Given the description of an element on the screen output the (x, y) to click on. 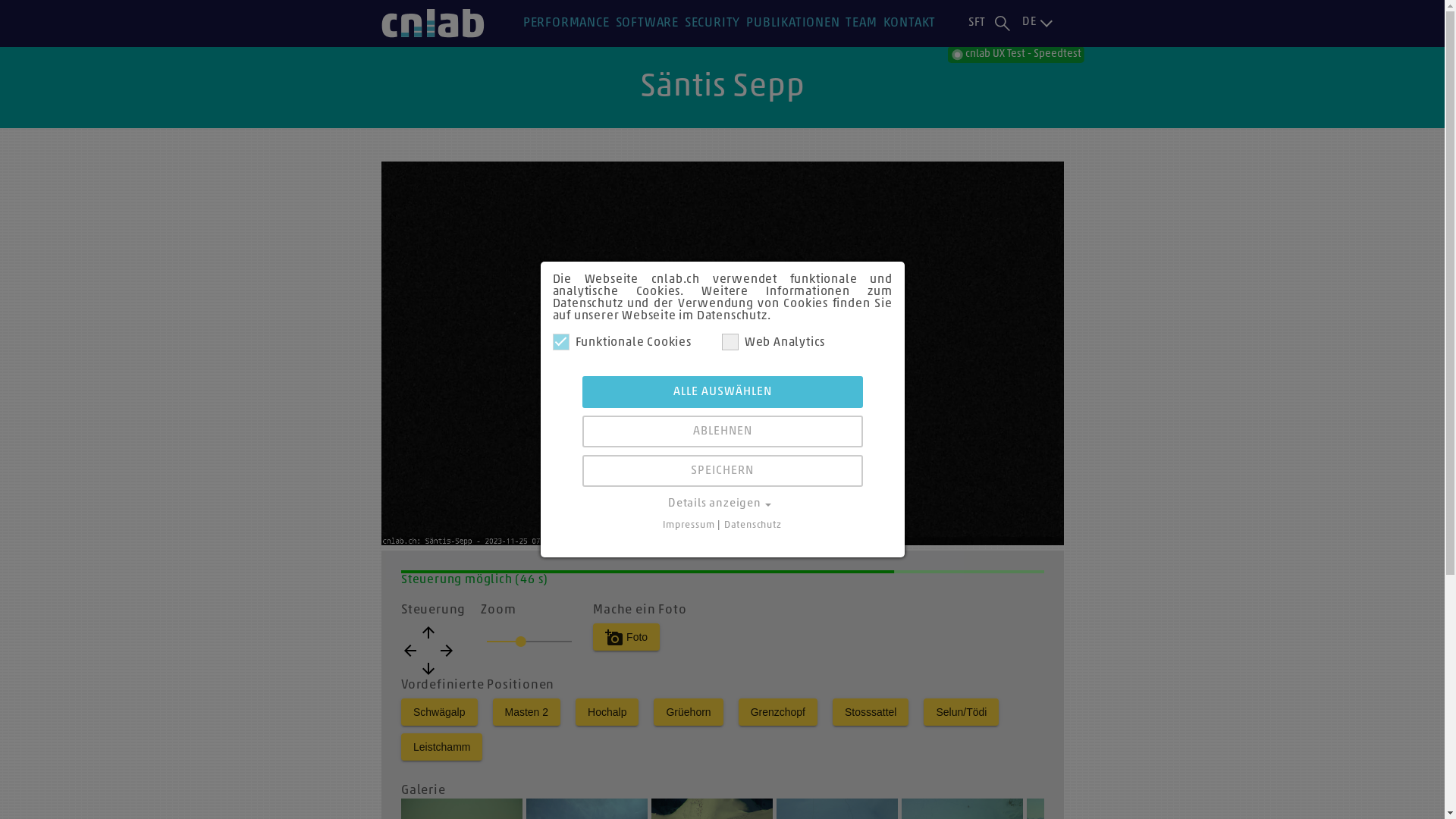
cnlab UX Test - Speedtest Element type: text (1015, 54)
ABLEHNEN Element type: text (722, 431)
KONTAKT Element type: text (908, 23)
SPEICHERN Element type: text (722, 470)
SFT Element type: text (976, 23)
PUBLIKATIONEN Element type: text (792, 23)
Impressum Element type: text (688, 525)
PERFORMANCE Element type: text (566, 23)
SECURITY Element type: text (712, 23)
Details anzeigen Element type: text (721, 503)
SOFTWARE Element type: text (646, 23)
Datenschutz Element type: text (752, 525)
TEAM Element type: text (860, 23)
